Given the description of an element on the screen output the (x, y) to click on. 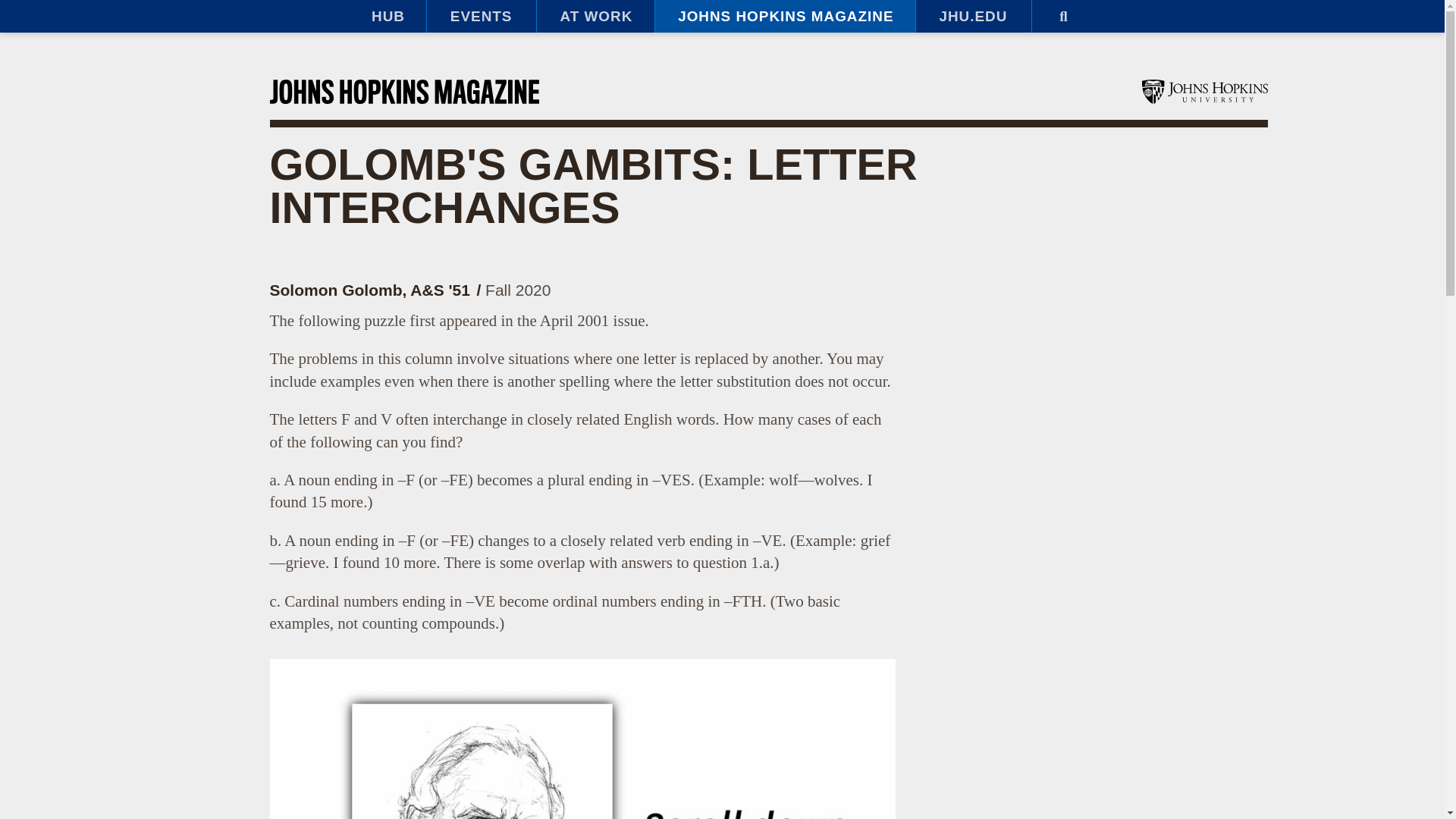
EVENTS (480, 16)
Johns Hopkins University (1204, 91)
JOHNS HOPKINS MAGAZINE (784, 16)
AT WORK (594, 16)
HUB (386, 16)
JHU.EDU (972, 16)
